Given the description of an element on the screen output the (x, y) to click on. 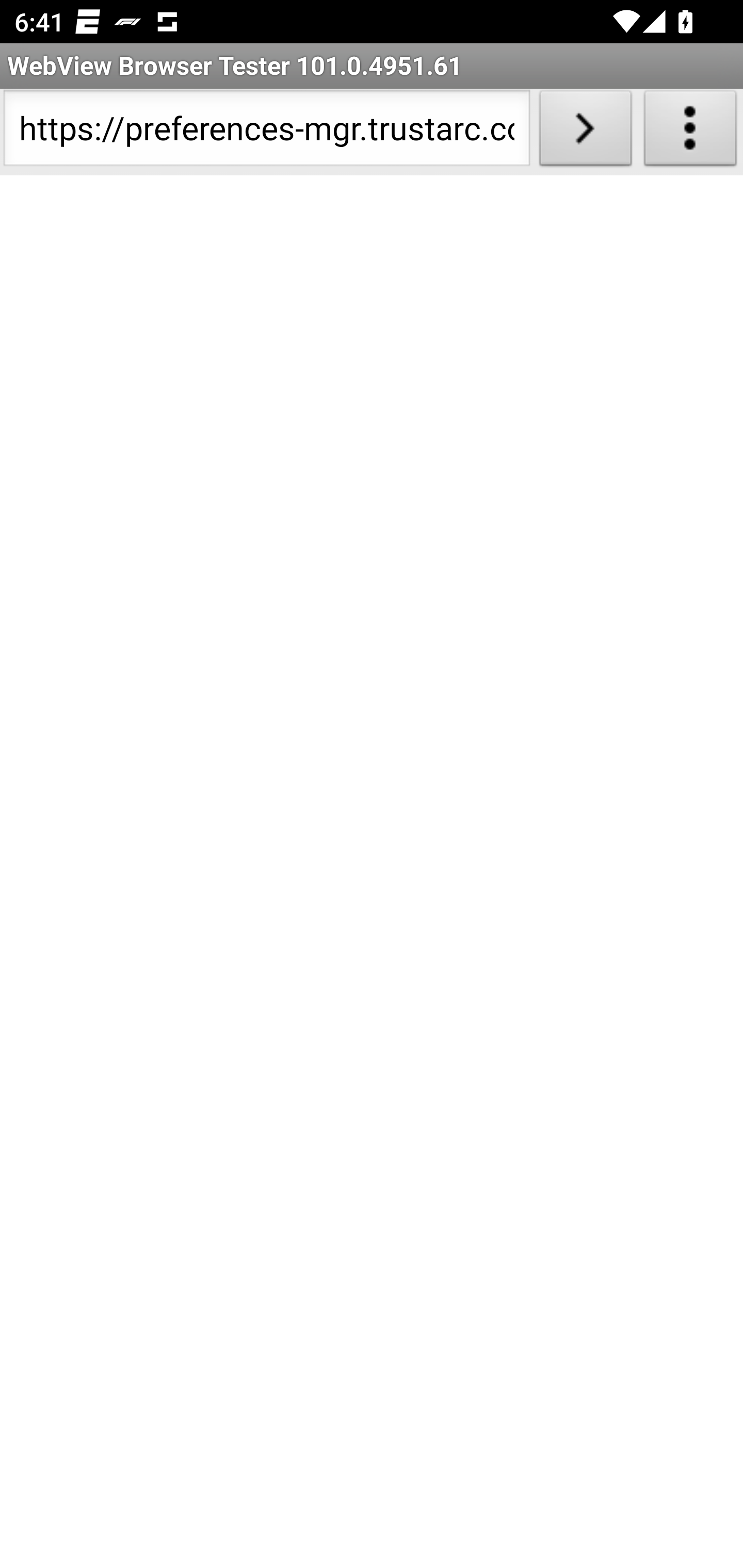
Load URL (585, 132)
About WebView (690, 132)
